Given the description of an element on the screen output the (x, y) to click on. 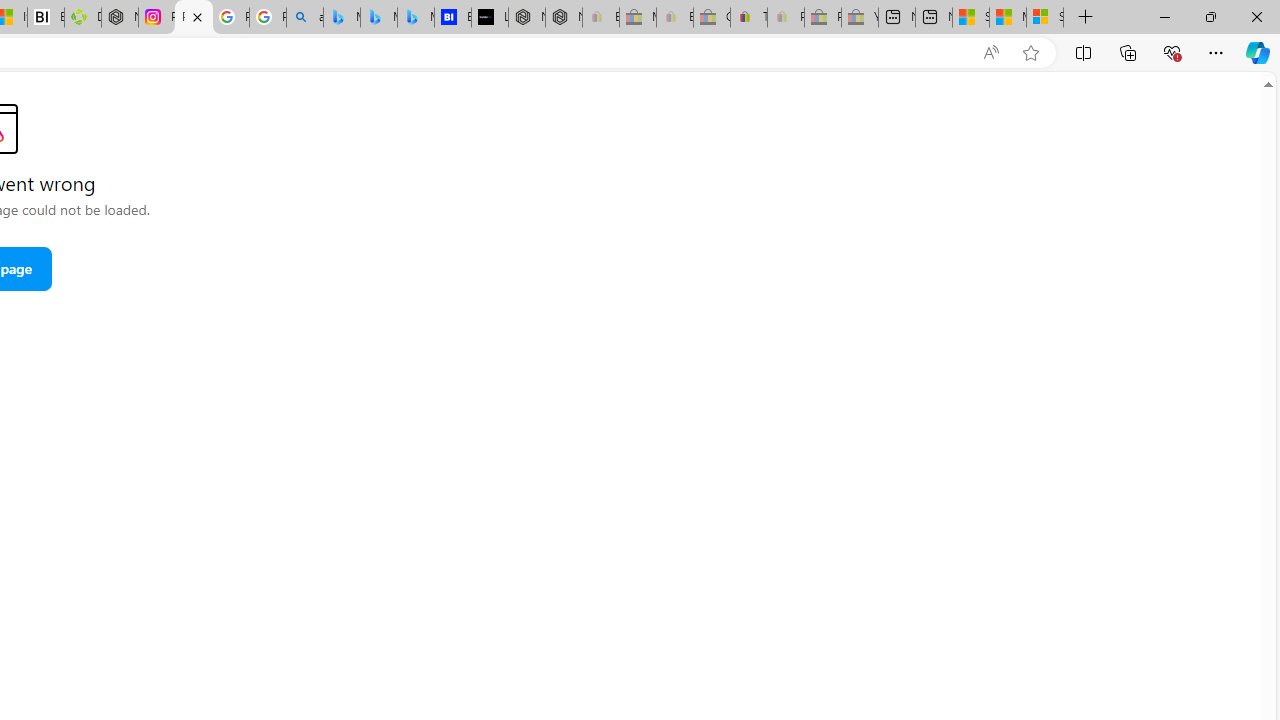
alabama high school quarterback dies - Search (304, 17)
Sign in to your Microsoft account (1044, 17)
